Given the description of an element on the screen output the (x, y) to click on. 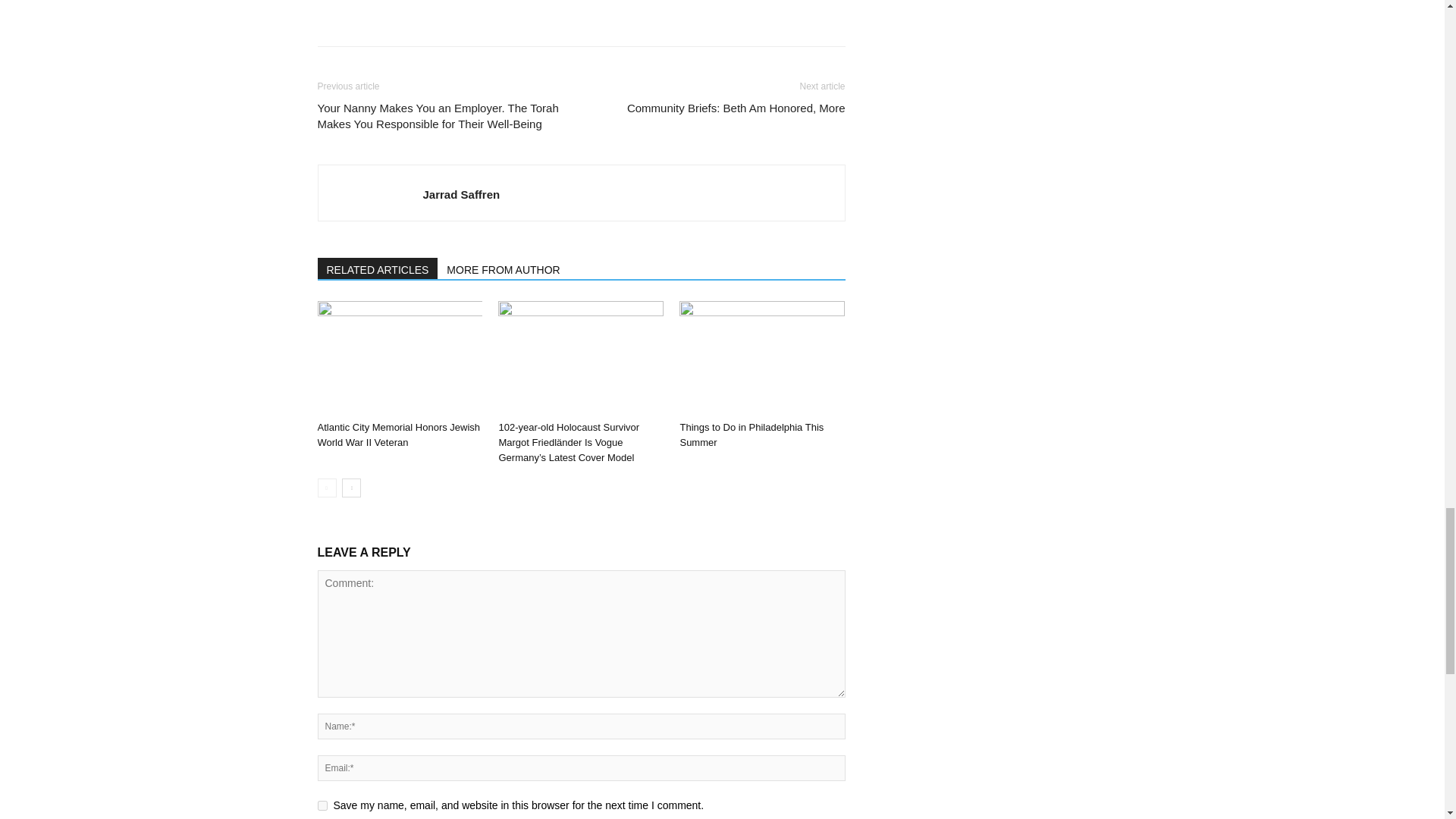
yes (321, 805)
